Given the description of an element on the screen output the (x, y) to click on. 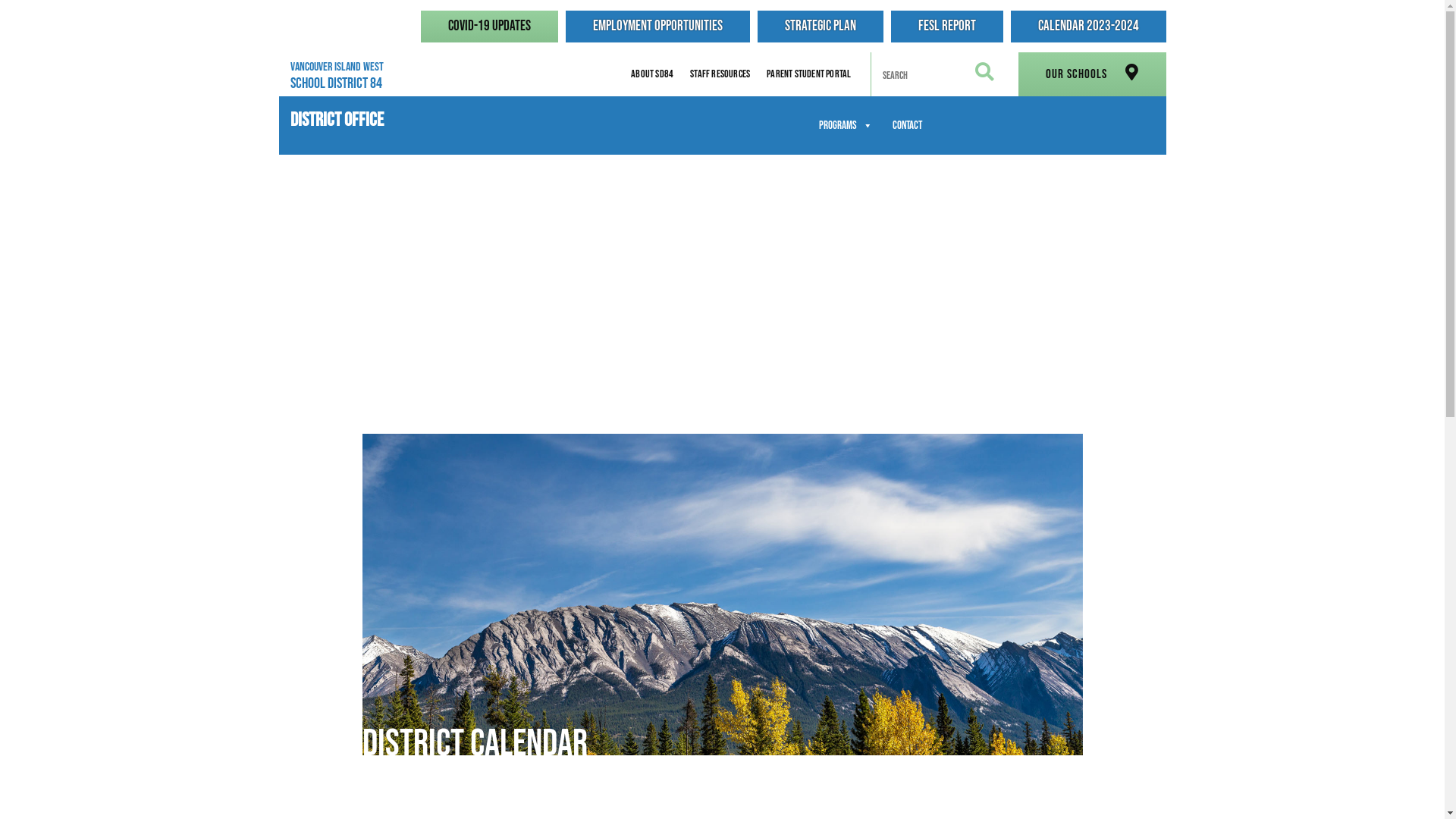
SEARCH Element type: text (984, 76)
PROGRAMS Element type: text (844, 125)
STRATEGIC PLAN Element type: text (819, 26)
FESL REPORT Element type: text (946, 26)
About SD84 Element type: text (651, 74)
CALENDAR 2023-2024 Element type: text (1087, 26)
OUR SCHOOLS Element type: text (1091, 74)
Skip to content Element type: text (0, 0)
Vancouver Island West
School District 84 Element type: text (351, 75)
Parent Student Portal Element type: text (808, 74)
COVID-19 UPDATES Element type: text (488, 26)
CONTACT Element type: text (906, 125)
Staff Resources Element type: text (719, 74)
District Office Element type: text (335, 114)
EMPLOYMENT OPPORTUNITIES Element type: text (657, 26)
